Given the description of an element on the screen output the (x, y) to click on. 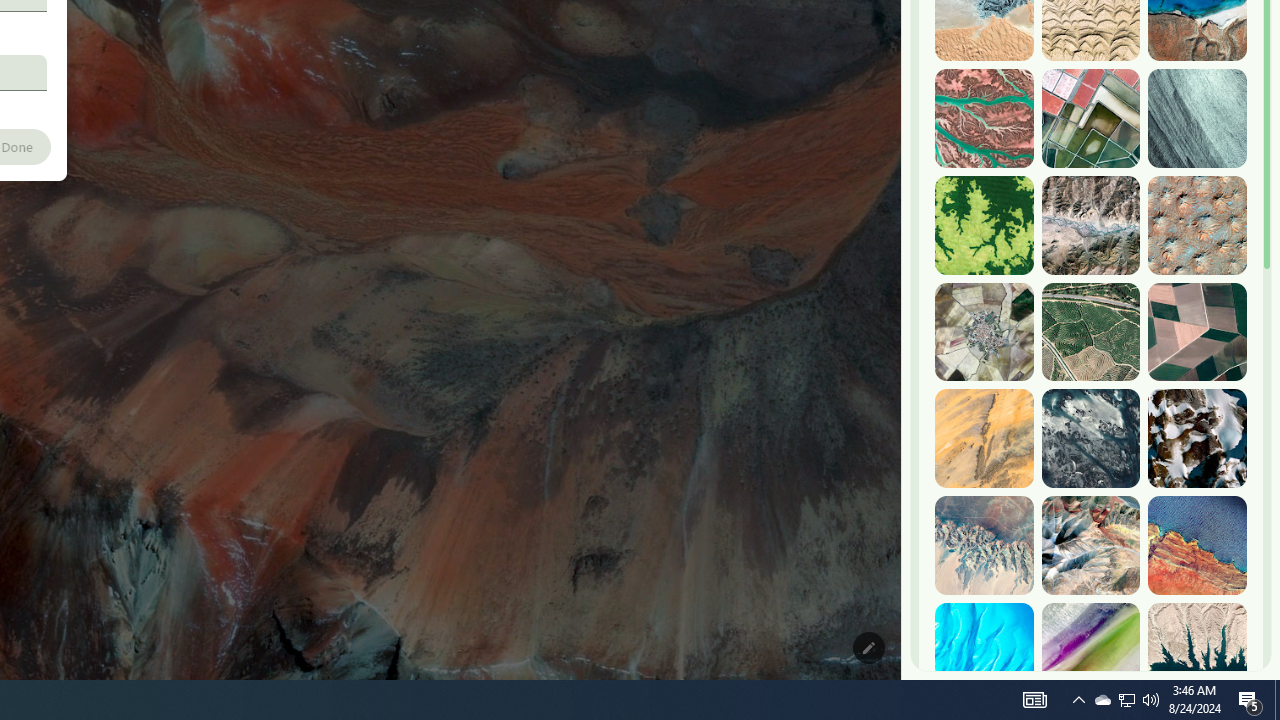
Atar, Mauritania (984, 438)
Iceland (1197, 119)
Isla Cristina, Spain (1090, 332)
Ouargla, Algeria (1197, 225)
Pozoantiguo, Spain (984, 332)
Dekese, DR Congo (984, 225)
Libya (1197, 545)
Side Panel Resize Handle (905, 39)
Ngari, China (1090, 545)
Aigues-Mortes, France (1090, 119)
Antarctica (1197, 438)
Utrera, Spain (1197, 332)
Hainan, China (1197, 651)
